Given the description of an element on the screen output the (x, y) to click on. 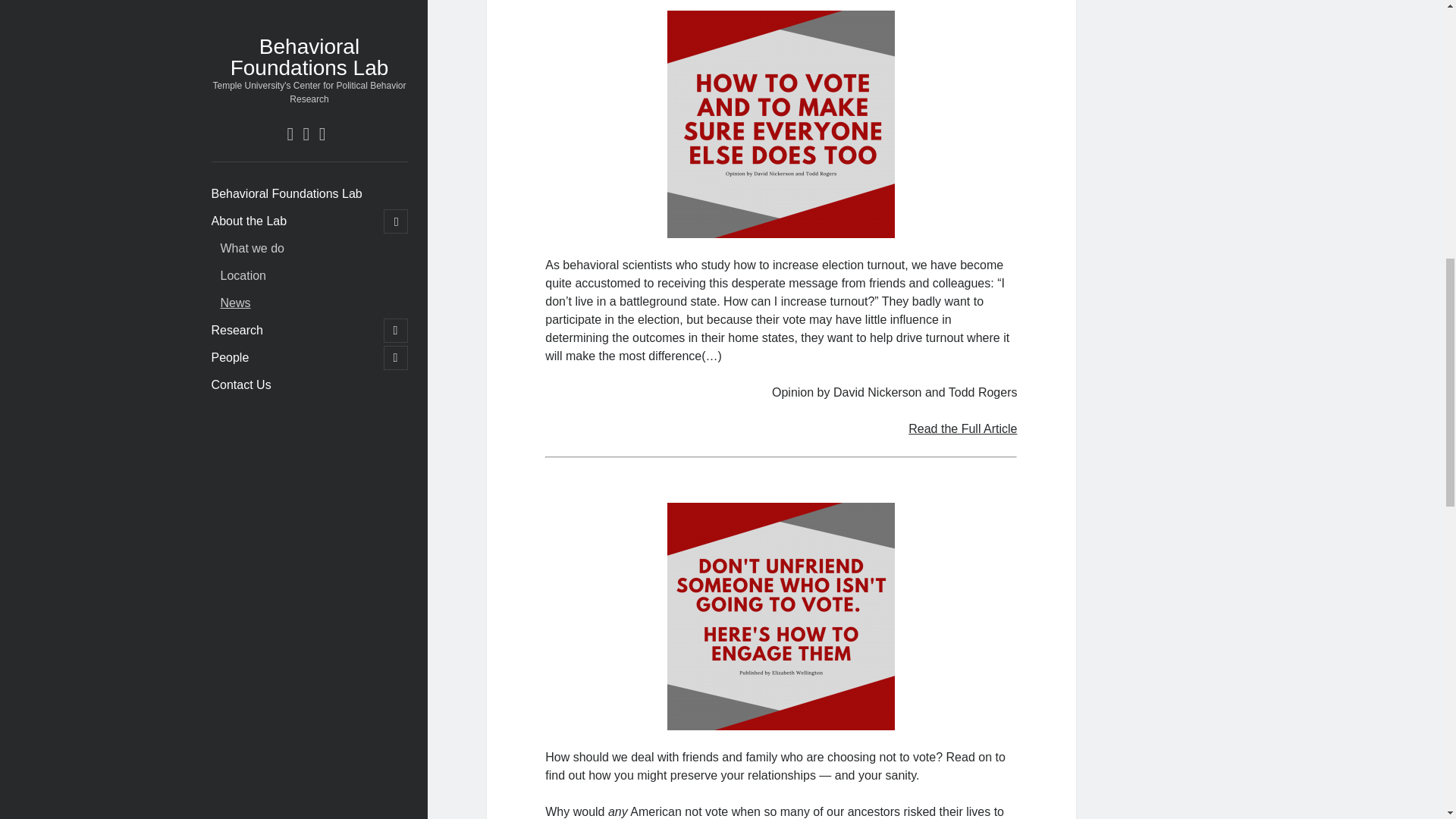
Read the Full Article (962, 428)
